Given the description of an element on the screen output the (x, y) to click on. 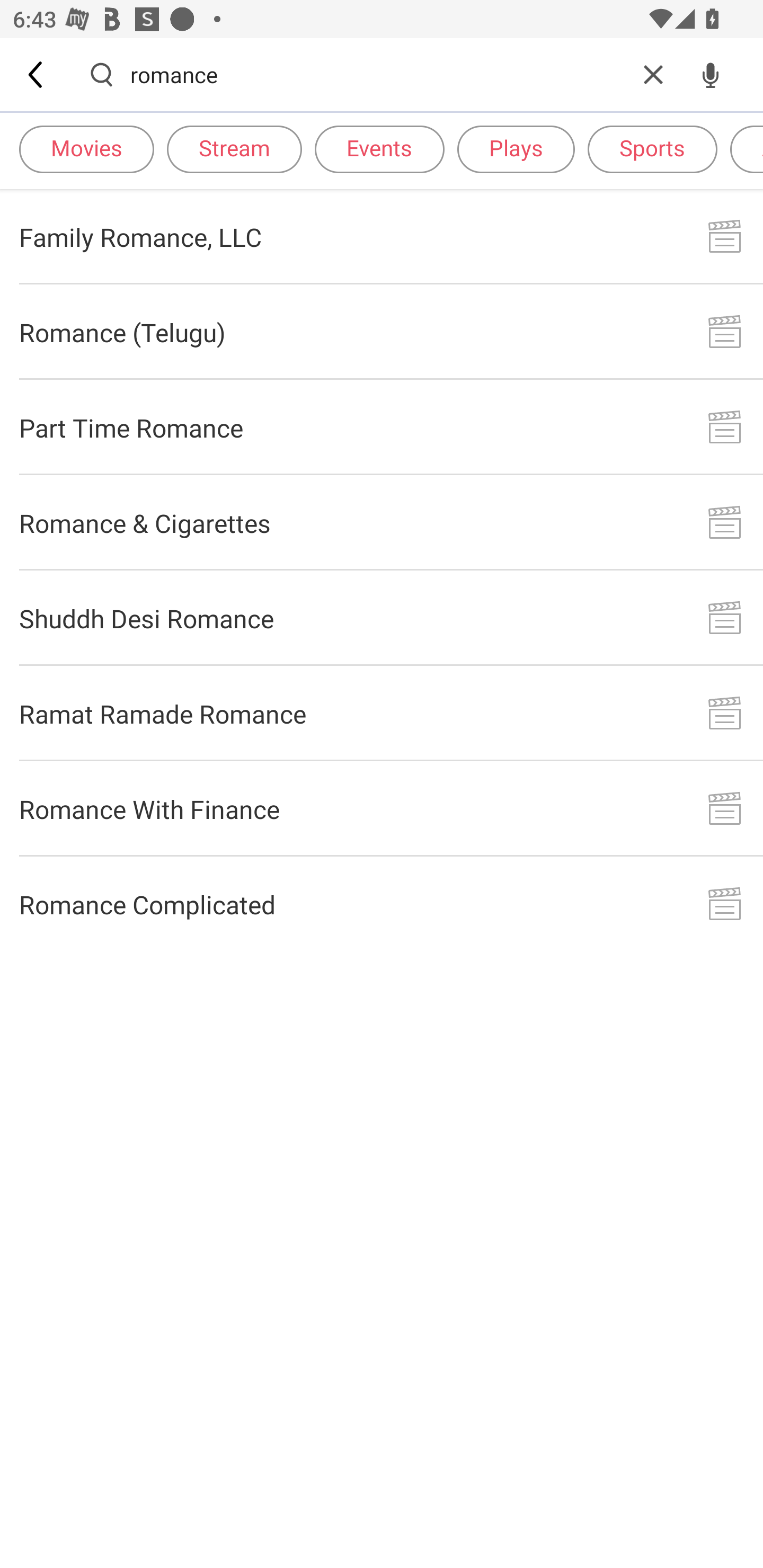
Back (36, 74)
romance (377, 74)
Clear (653, 74)
Movies (86, 148)
Stream (234, 148)
Events (379, 148)
Plays (515, 148)
Sports (652, 148)
Family Romance, LLC (381, 236)
Romance (Telugu) (381, 331)
Part Time Romance (381, 427)
Romance & Cigarettes (381, 522)
Shuddh Desi Romance (381, 618)
Ramat Ramade Romance (381, 713)
Romance With Finance (381, 808)
Romance Complicated (381, 903)
